Given the description of an element on the screen output the (x, y) to click on. 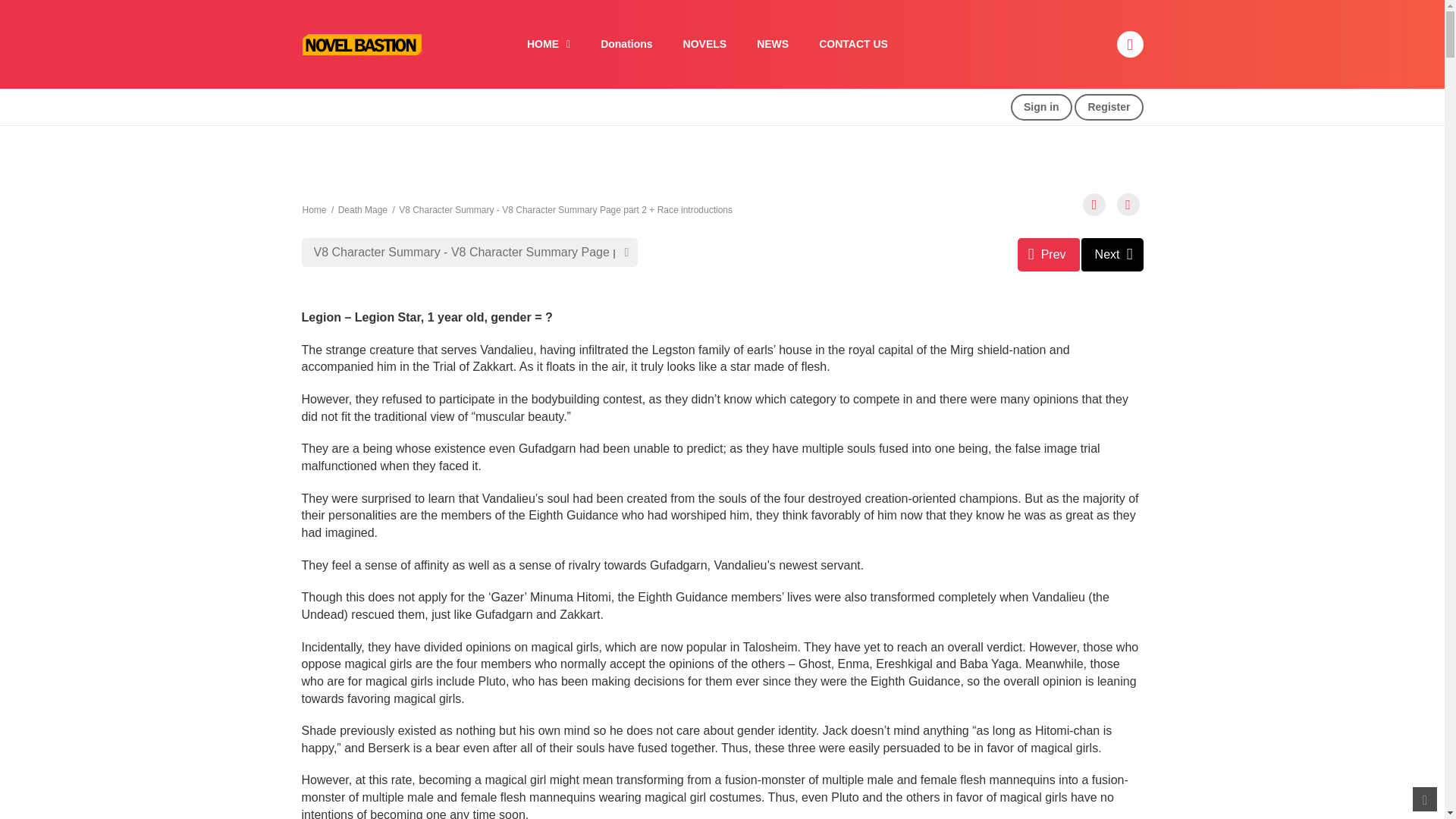
Bookmark (1094, 204)
NEWS (772, 44)
Home (313, 209)
Register (1108, 107)
Prev (1048, 254)
Donations (625, 44)
CONTACT US (852, 44)
Death Mage (362, 209)
HOME (548, 44)
Light Novel Bastion (361, 42)
